Given the description of an element on the screen output the (x, y) to click on. 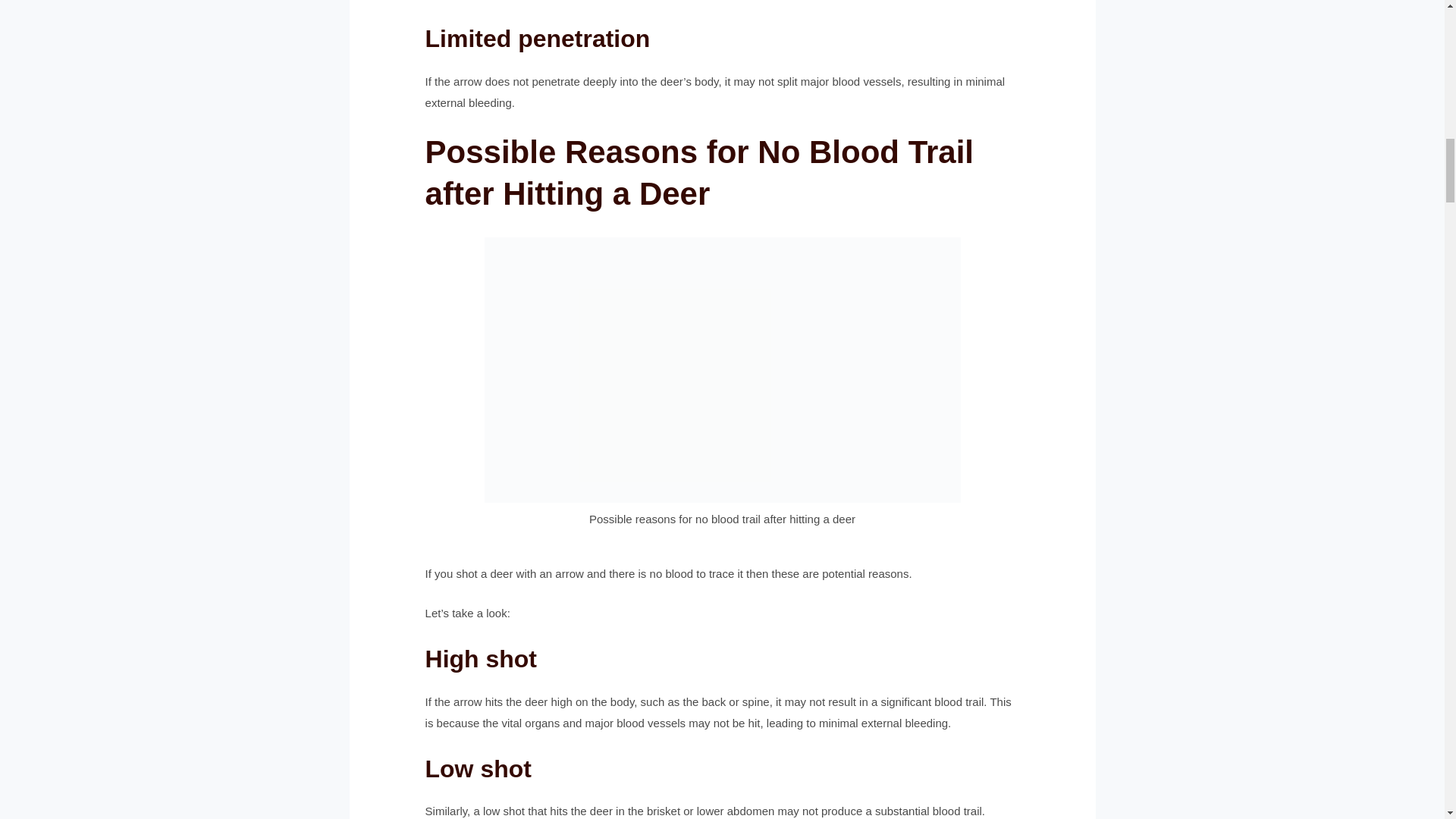
Arrow Stuck In Deer No Blood 3 (721, 369)
